Given the description of an element on the screen output the (x, y) to click on. 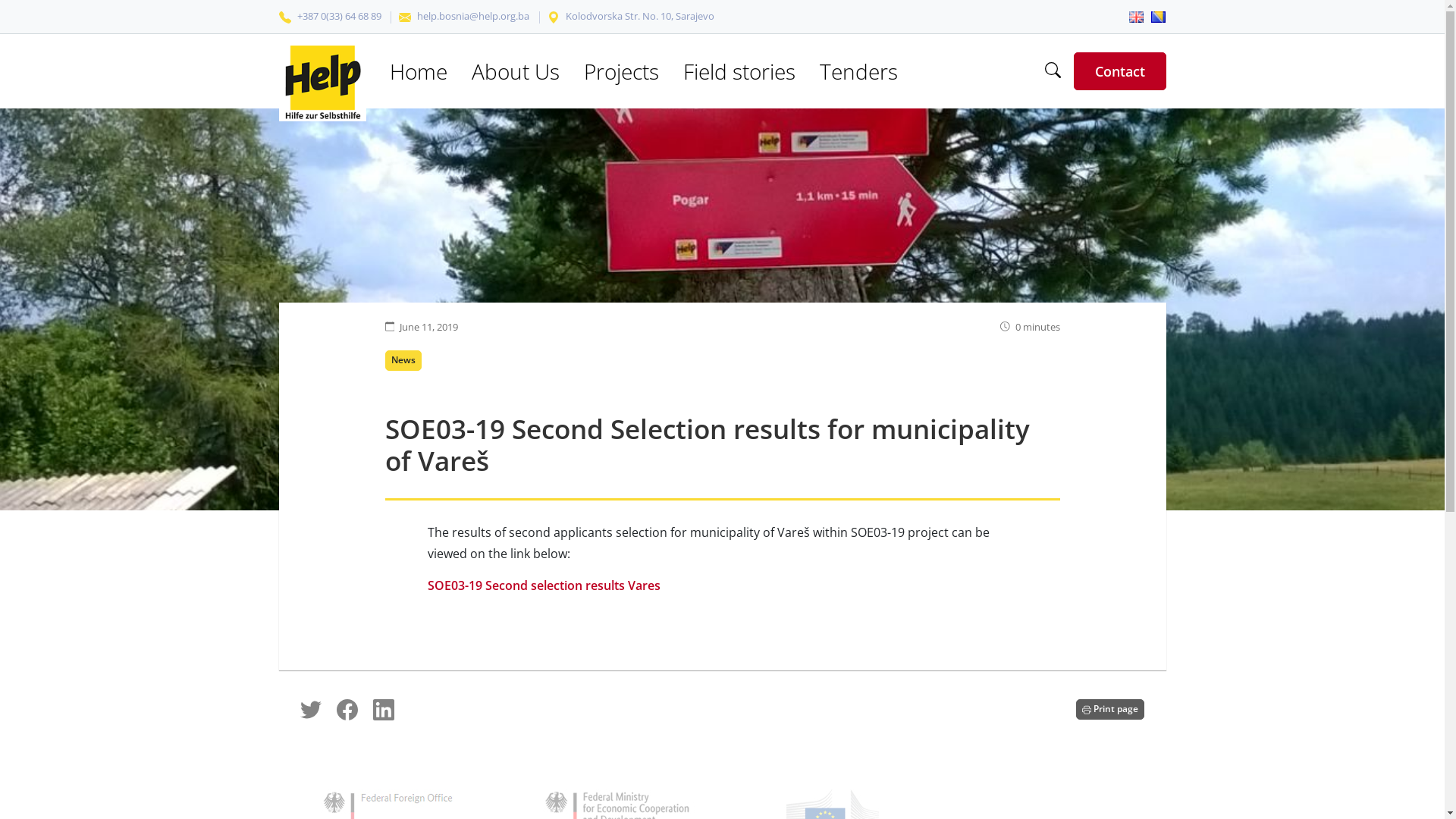
Print page Element type: text (1110, 709)
Share on Twitter Element type: text (318, 708)
Tenders Element type: text (859, 70)
Projects Element type: text (620, 70)
Home Element type: text (418, 70)
About Us Element type: text (515, 70)
Share on Facebook Element type: text (354, 708)
Field stories Element type: text (739, 70)
SOE03-19 Second selection results Vares Element type: text (543, 585)
Share on LinkedIn Element type: text (389, 708)
News Element type: text (403, 360)
Contact Element type: text (1119, 71)
